Given the description of an element on the screen output the (x, y) to click on. 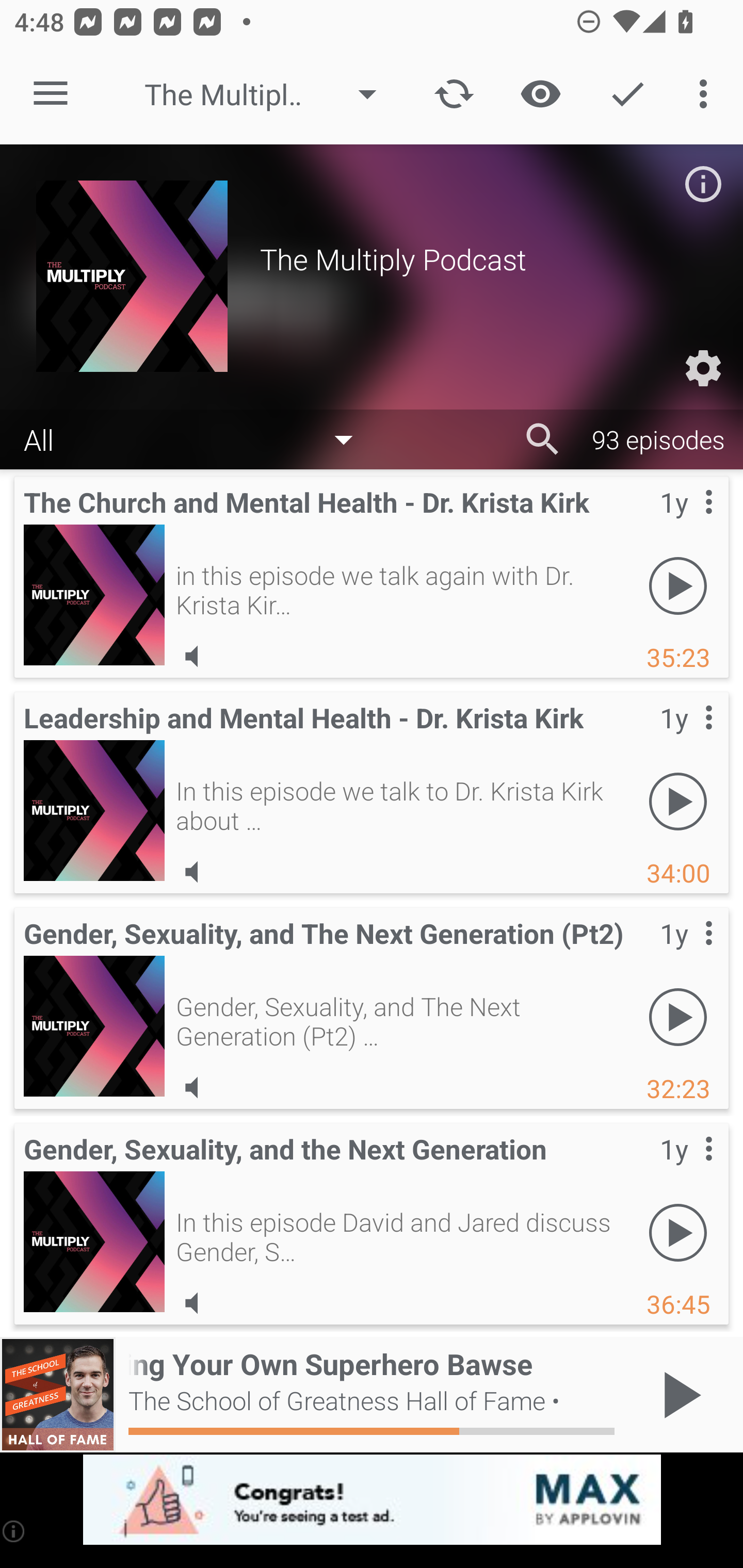
Open navigation sidebar (50, 93)
Update (453, 93)
Show / Hide played content (540, 93)
Action Mode (626, 93)
More options (706, 93)
The Multiply Podcast (270, 94)
Podcast description (703, 184)
Custom Settings (703, 368)
Search (542, 439)
All (197, 438)
Contextual menu (685, 522)
The Church and Mental Health - Dr. Krista Kirk (93, 594)
Play (677, 585)
Contextual menu (685, 738)
Leadership and Mental Health - Dr. Krista Kirk (93, 810)
Play (677, 801)
Contextual menu (685, 954)
Gender, Sexuality, and The Next Generation (Pt2) (93, 1026)
Play (677, 1016)
Contextual menu (685, 1169)
Gender, Sexuality, and the Next Generation (93, 1241)
Play (677, 1232)
Play / Pause (677, 1394)
app-monetization (371, 1500)
(i) (14, 1531)
